Given the description of an element on the screen output the (x, y) to click on. 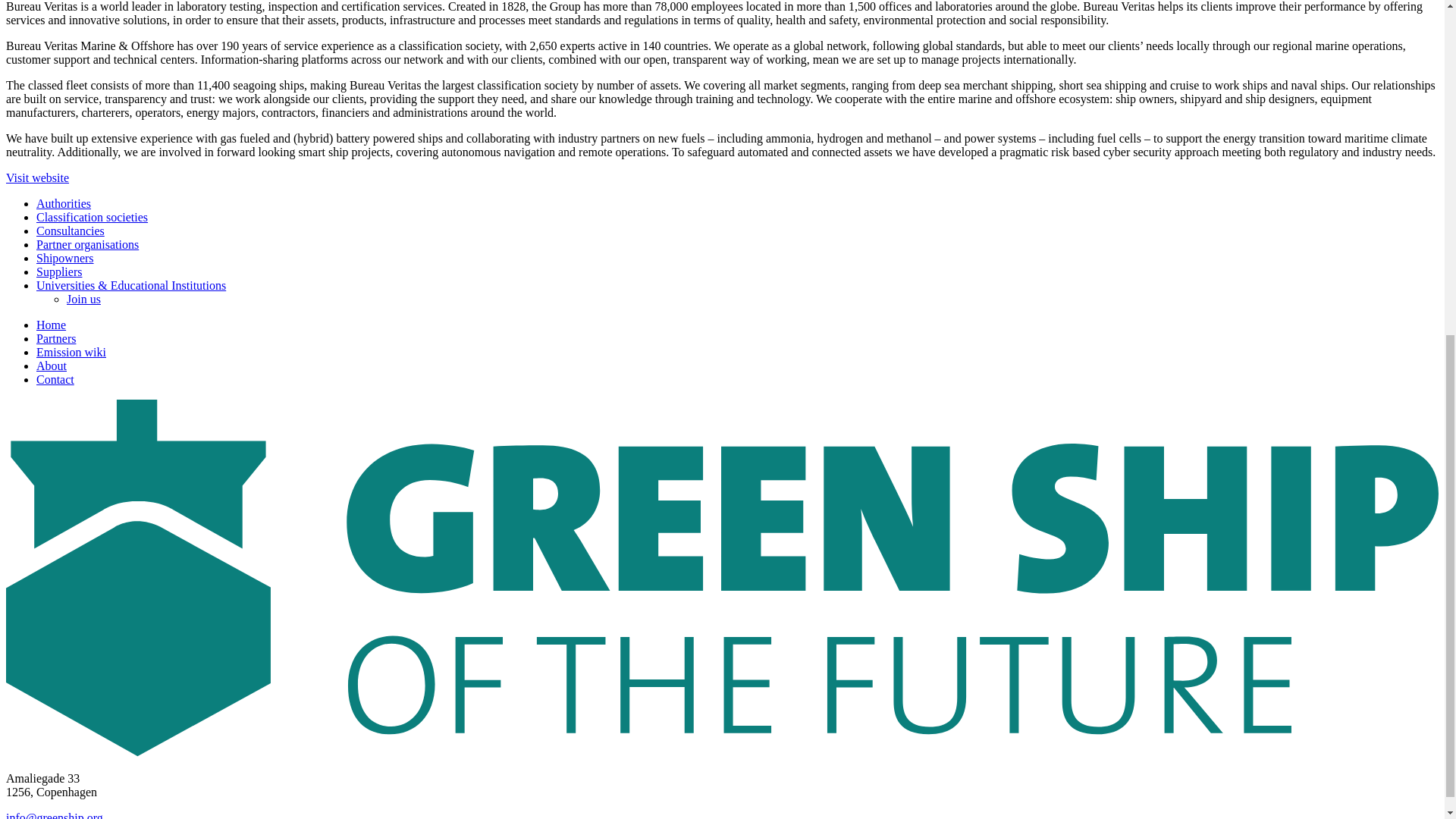
Join us (83, 298)
Classification societies (92, 216)
Emission wiki (71, 351)
Partners (55, 338)
Authorities (63, 203)
Partner organisations (87, 244)
Shipowners (65, 257)
Suppliers (58, 271)
Consultancies (70, 230)
Visit website (36, 177)
